Given the description of an element on the screen output the (x, y) to click on. 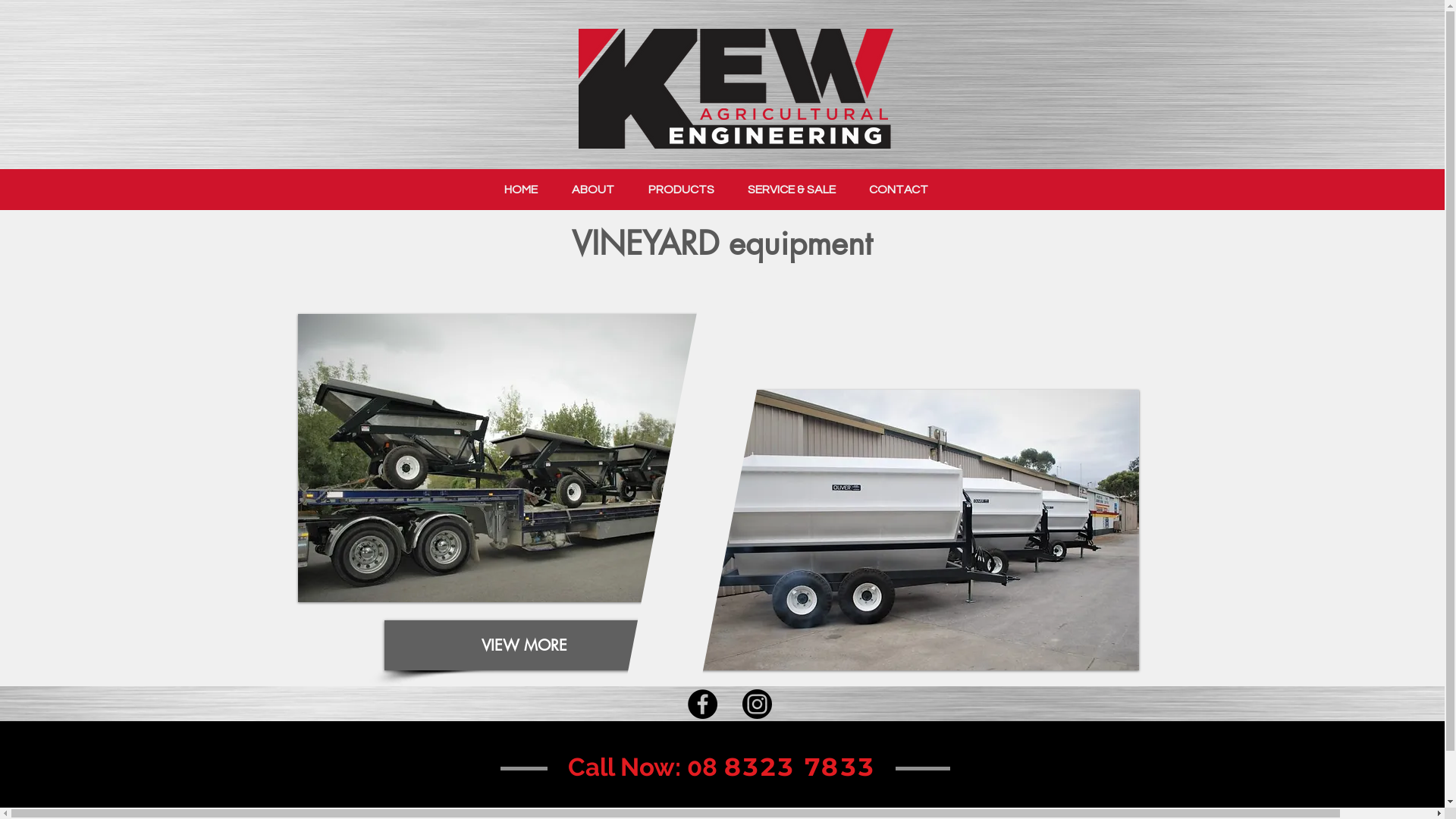
CONTACT Element type: text (898, 189)
Contact us today Element type: text (725, 761)
ABOUT Element type: text (593, 189)
SERVICE & SALE Element type: text (791, 189)
PRODUCTS Element type: text (680, 189)
HOME Element type: text (520, 189)
VIEW MORE Element type: text (523, 645)
